Given the description of an element on the screen output the (x, y) to click on. 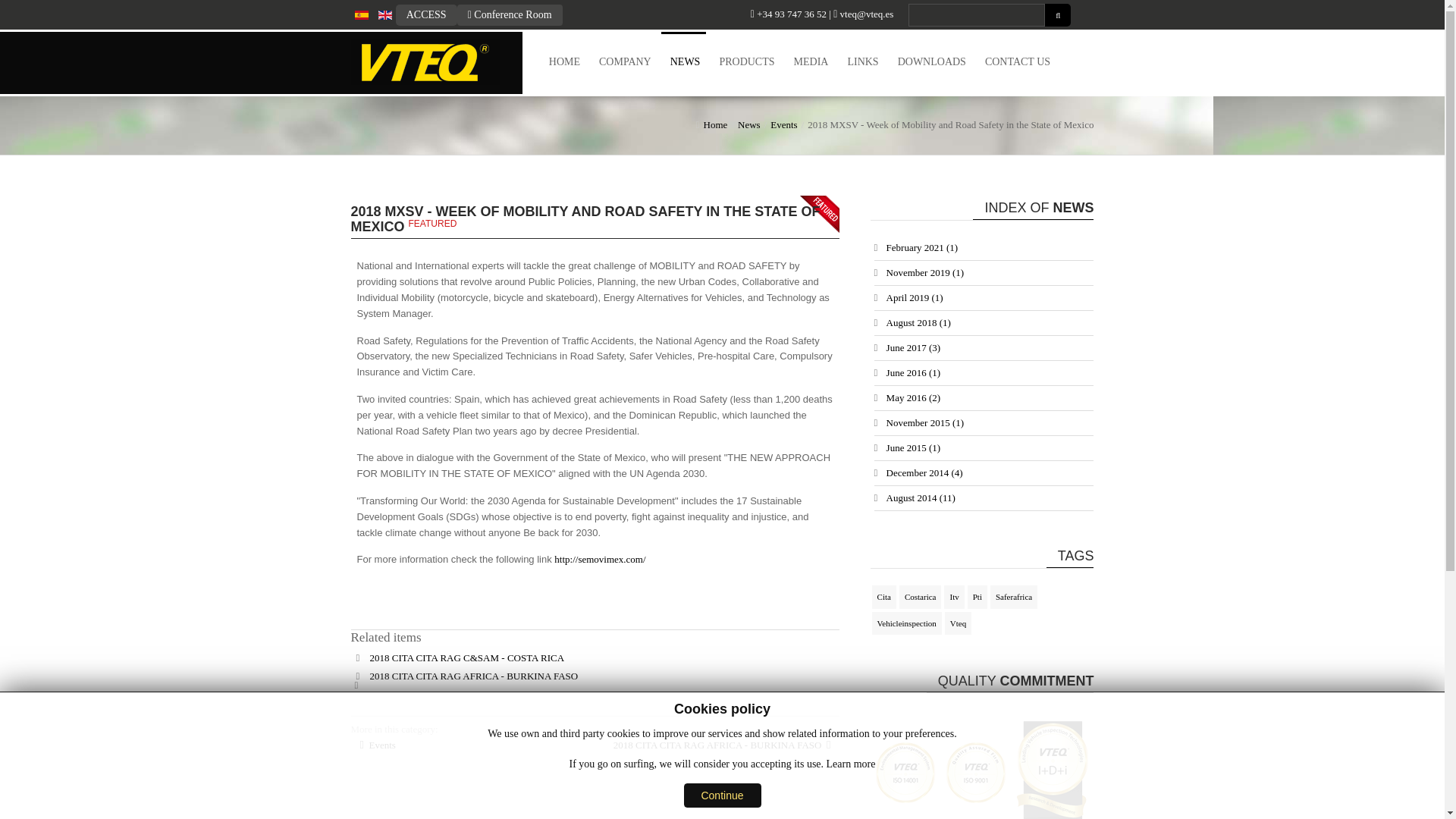
NEWS (684, 61)
3 items tagged with cita (884, 597)
LINKS (862, 61)
1 items tagged with costarica (920, 597)
PRODUCTS (746, 61)
COMPANY (625, 61)
3 items tagged with vehicleinspection (907, 623)
MEDIA (810, 61)
News (749, 124)
2 items tagged with saferafrica (1013, 597)
DOWNLOADS (931, 61)
HOME (564, 61)
Home (715, 124)
Events (783, 124)
CONTACT US (1017, 61)
